Given the description of an element on the screen output the (x, y) to click on. 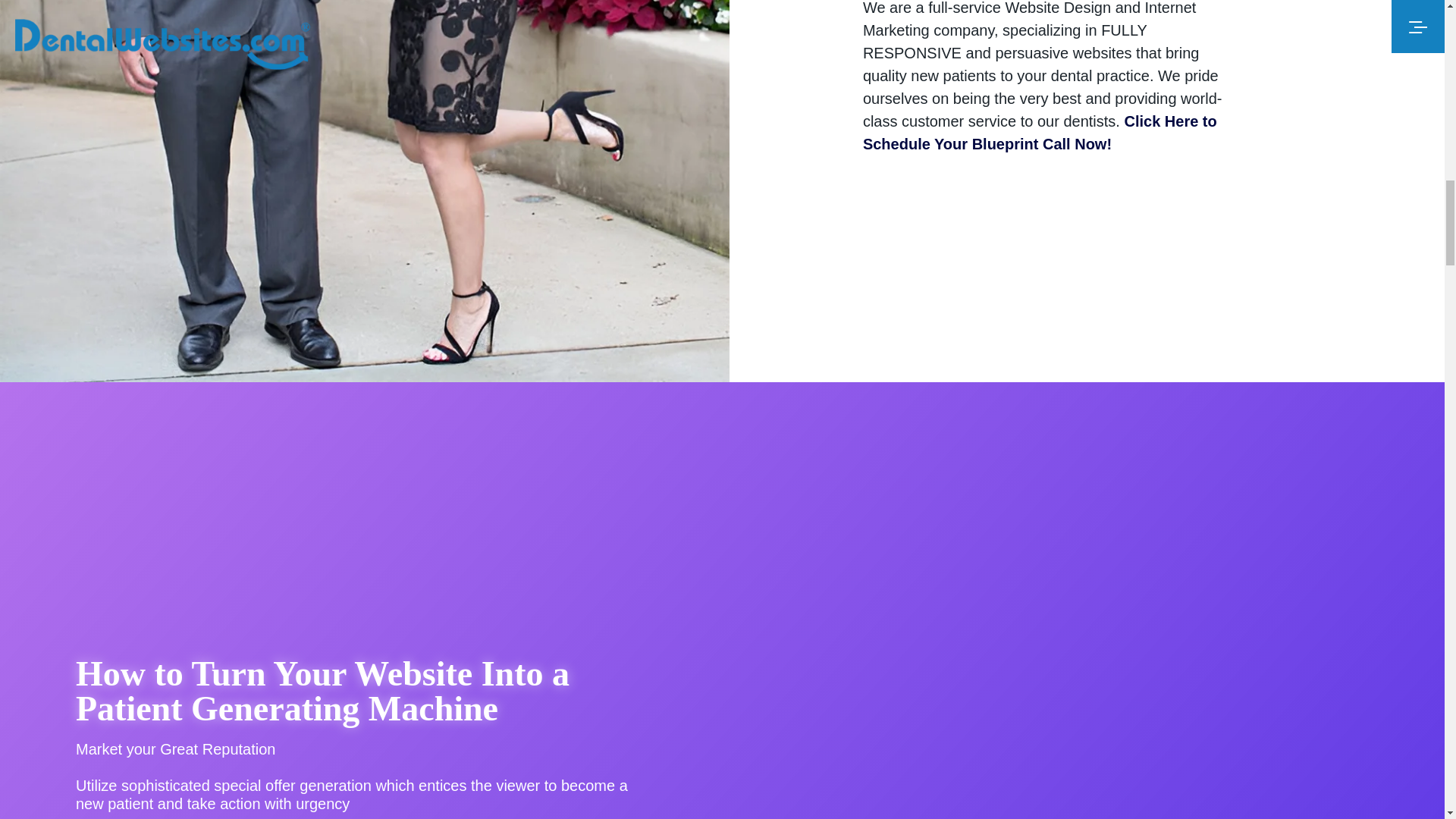
Click Here to Schedule Your Blueprint Call Now! (1040, 132)
